Given the description of an element on the screen output the (x, y) to click on. 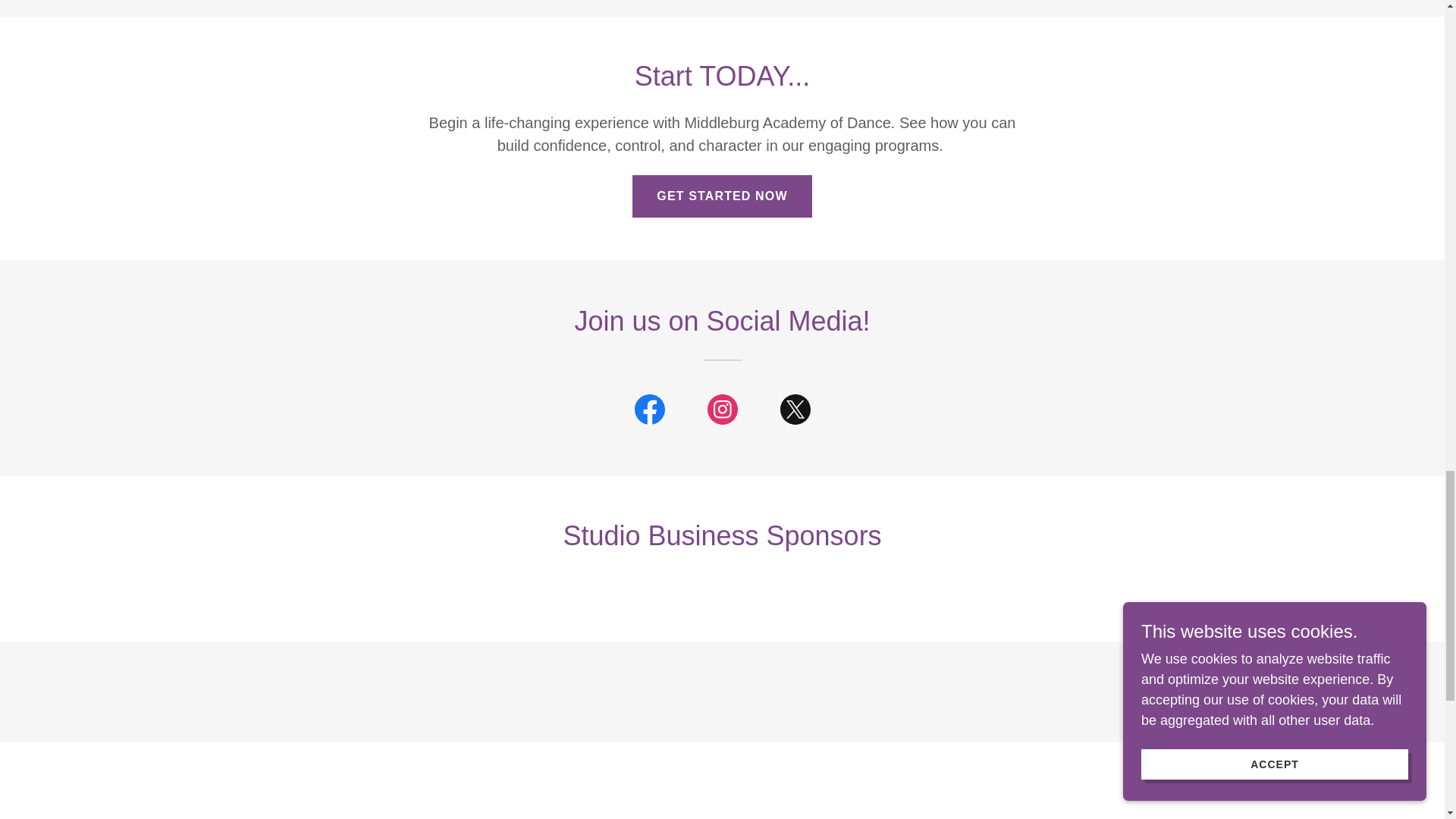
GET STARTED NOW (720, 196)
